Given the description of an element on the screen output the (x, y) to click on. 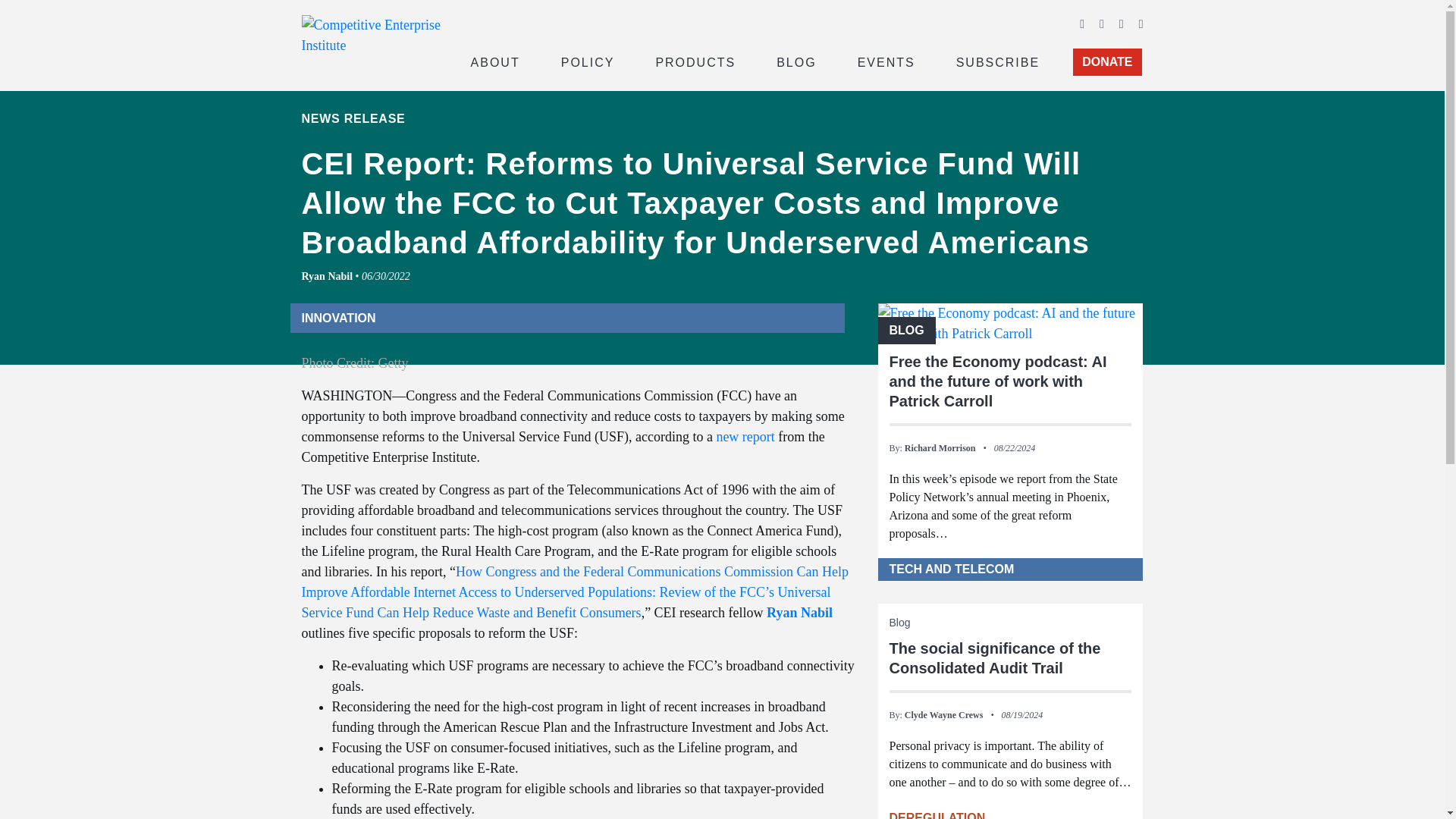
BLOG (796, 61)
POLICY (588, 61)
DONATE (1107, 62)
EVENTS (886, 61)
PRODUCTS (694, 61)
SUBSCRIBE (997, 61)
ABOUT (495, 61)
